Given the description of an element on the screen output the (x, y) to click on. 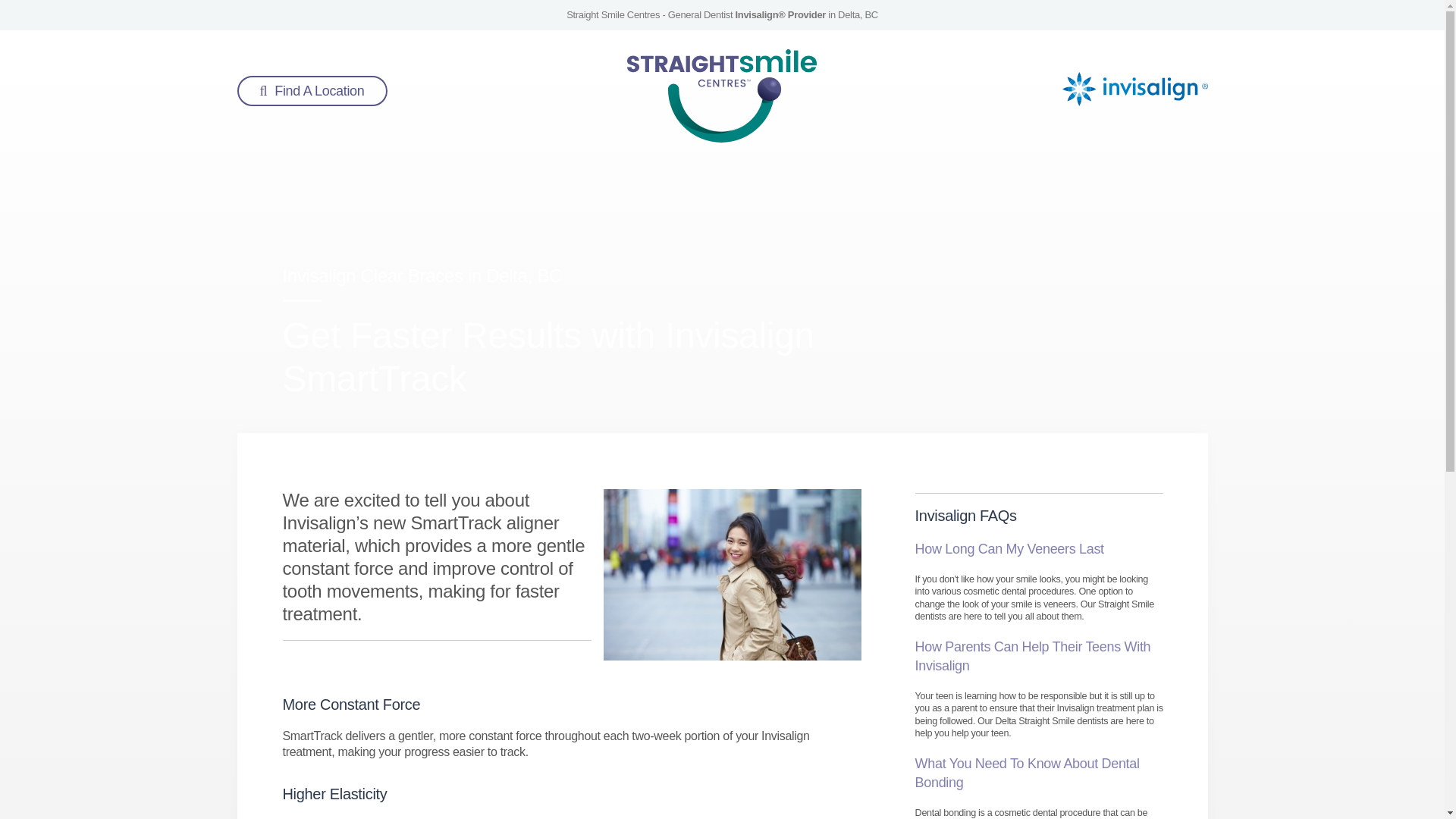
What You Need To Know About Dental Bonding (1027, 772)
How Long Can My Veneers Last (1009, 548)
Find A Location (311, 91)
How Parents Can Help Their Teens With Invisalign (1033, 655)
Find an Invisalign Specialist in Surrey (311, 91)
